Given the description of an element on the screen output the (x, y) to click on. 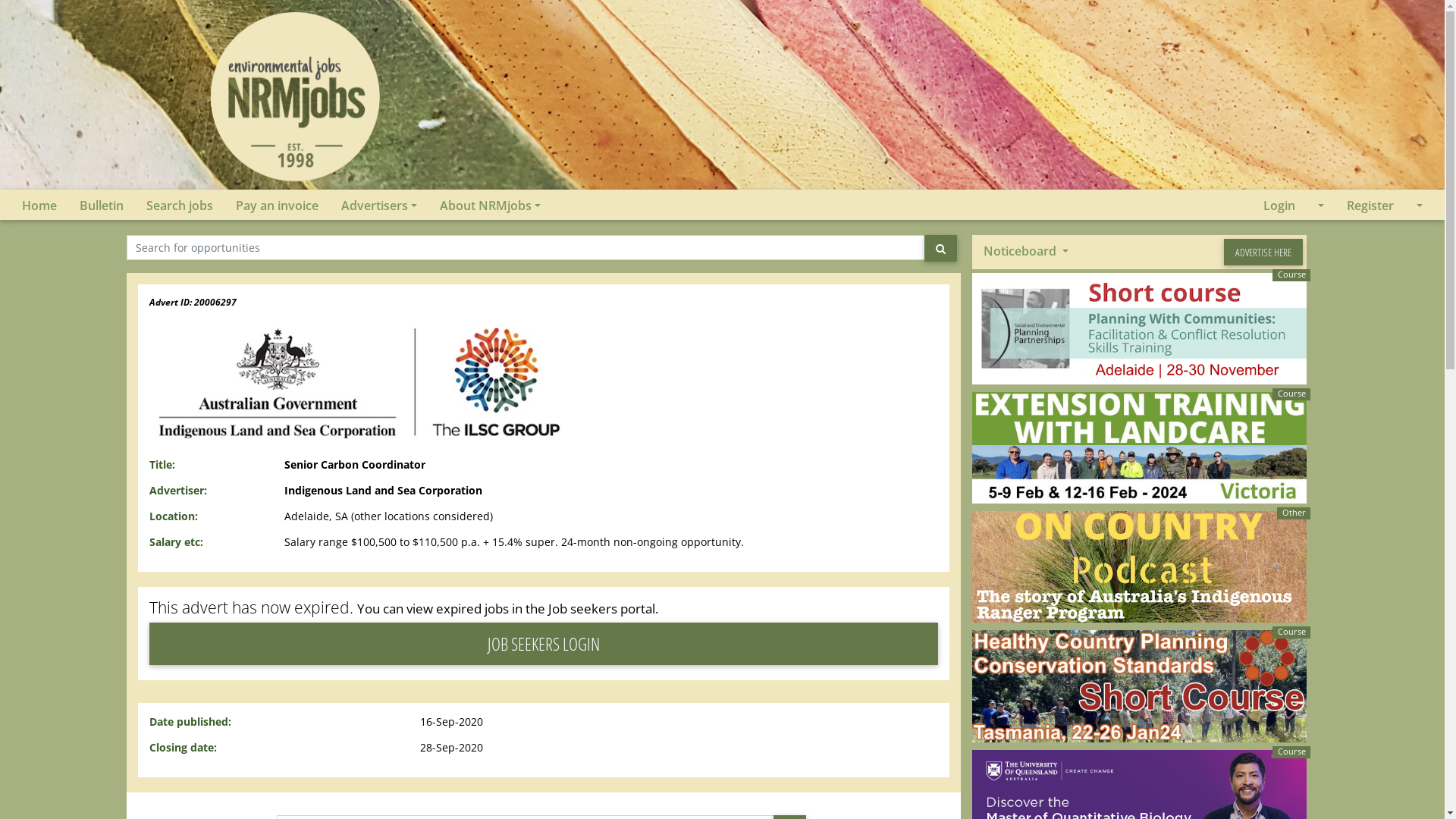
ADVERTISE HERE Element type: text (1262, 251)
Advertisers Element type: text (378, 204)
Pay an invoice Element type: text (276, 204)
About NRMjobs Element type: text (490, 204)
Home Element type: text (39, 204)
Noticeboard Element type: text (1025, 250)
Register Element type: text (1370, 204)
Login Element type: text (1279, 204)
Bulletin Element type: text (101, 204)
Search jobs Element type: text (179, 204)
JOB SEEKERS LOGIN Element type: text (543, 643)
